Given the description of an element on the screen output the (x, y) to click on. 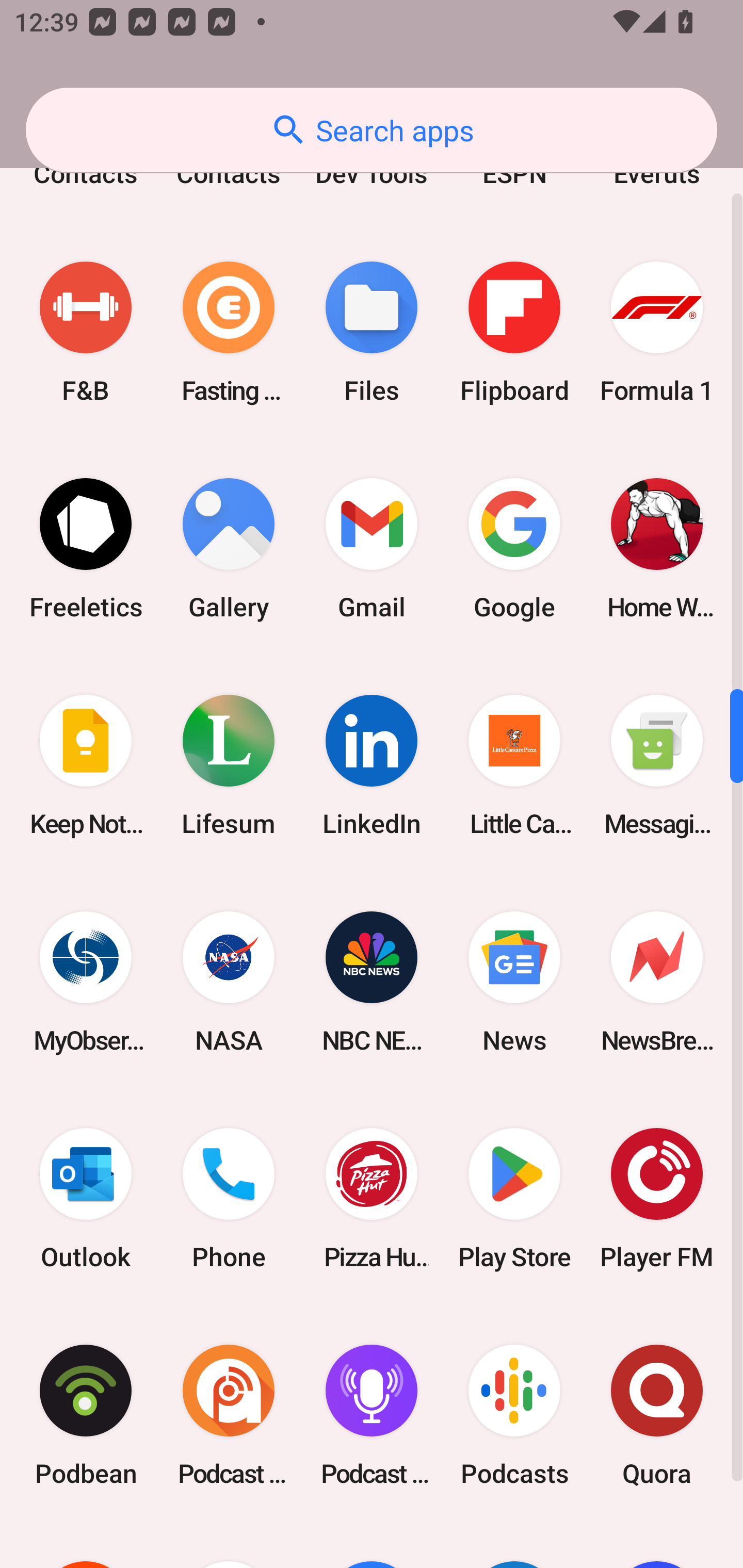
  Search apps (371, 130)
F&B (85, 332)
Fasting Coach (228, 332)
Files (371, 332)
Flipboard (514, 332)
Formula 1 (656, 332)
Freeletics (85, 548)
Gallery (228, 548)
Gmail (371, 548)
Google (514, 548)
Home Workout (656, 548)
Keep Notes (85, 764)
Lifesum (228, 764)
LinkedIn (371, 764)
Little Caesars Pizza (514, 764)
Messaging (656, 764)
MyObservatory (85, 981)
NASA (228, 981)
NBC NEWS (371, 981)
News (514, 981)
NewsBreak (656, 981)
Outlook (85, 1198)
Phone (228, 1198)
Pizza Hut HK & Macau (371, 1198)
Play Store (514, 1198)
Player FM (656, 1198)
Podbean (85, 1415)
Podcast Addict (228, 1415)
Podcast Player (371, 1415)
Podcasts (514, 1415)
Quora (656, 1415)
